Given the description of an element on the screen output the (x, y) to click on. 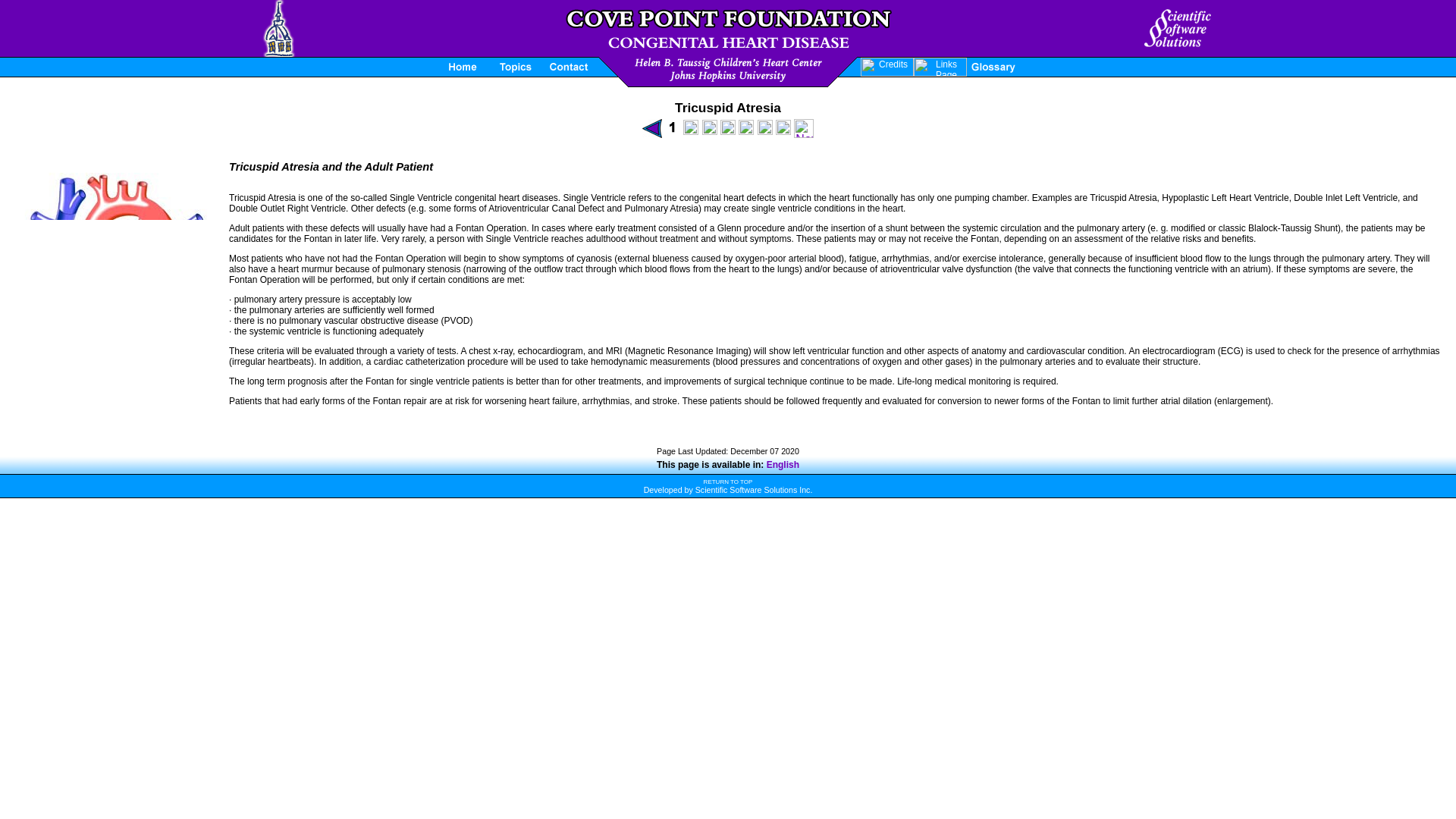
What Are Its Effects? (690, 130)
Cove Point Foundation (727, 71)
Developed by Scientific Software Solutions Inc. (727, 489)
Adult Information (746, 130)
English (783, 464)
Congenital Heart Disease (727, 28)
Pregnancy Issues (783, 130)
What Is It? (672, 130)
RETURN TO TOP (727, 480)
Exercise Concerns (765, 130)
